Given the description of an element on the screen output the (x, y) to click on. 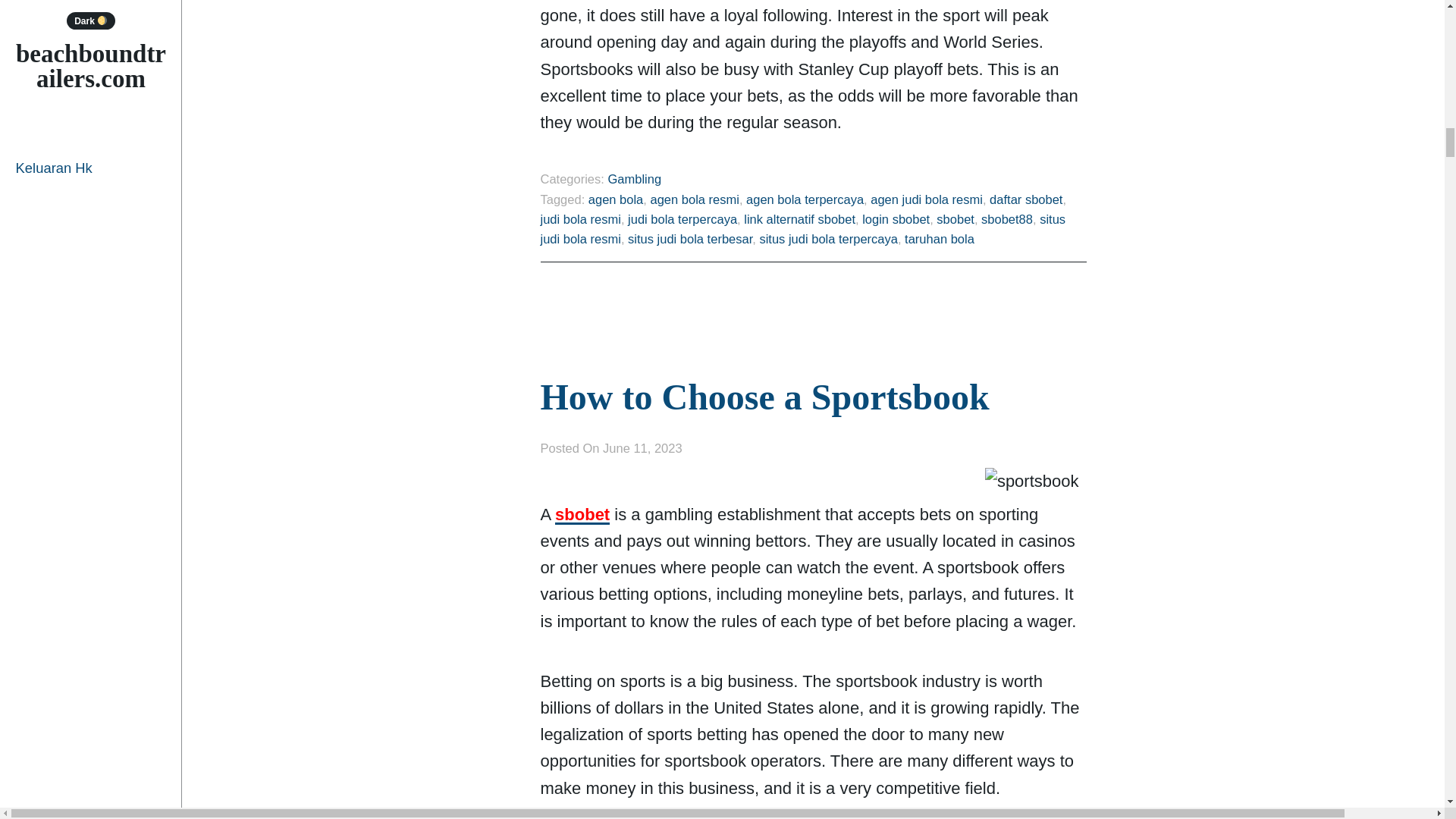
agen bola resmi (693, 199)
agen bola terpercaya (804, 199)
situs judi bola terbesar (689, 238)
situs judi bola terpercaya (828, 238)
login sbobet (895, 219)
agen bola (615, 199)
taruhan bola (939, 238)
agen judi bola resmi (926, 199)
judi bola terpercaya (681, 219)
sbobet88 (1006, 219)
daftar sbobet (1026, 199)
judi bola resmi (580, 219)
situs judi bola resmi (802, 228)
sbobet (955, 219)
Gambling (634, 178)
